Given the description of an element on the screen output the (x, y) to click on. 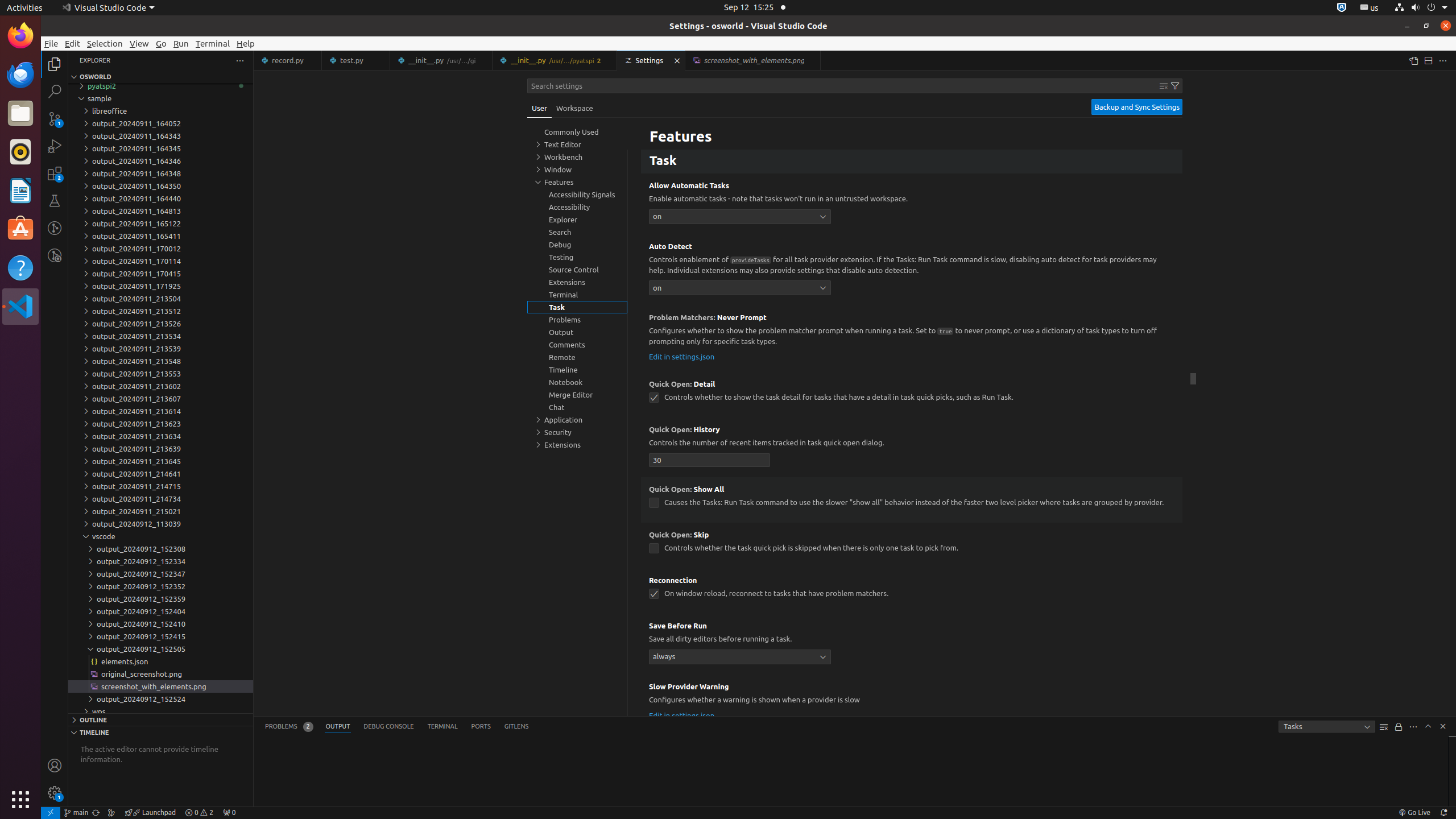
Source Control, group Element type: tree-item (577, 269)
Split Editor Right (Ctrl+\) [Alt] Split Editor Down Element type: push-button (1427, 60)
Remote, group Element type: tree-item (577, 356)
on Element type: menu-item (739, 216)
output_20240912_152505 Element type: tree-item (160, 648)
